Given the description of an element on the screen output the (x, y) to click on. 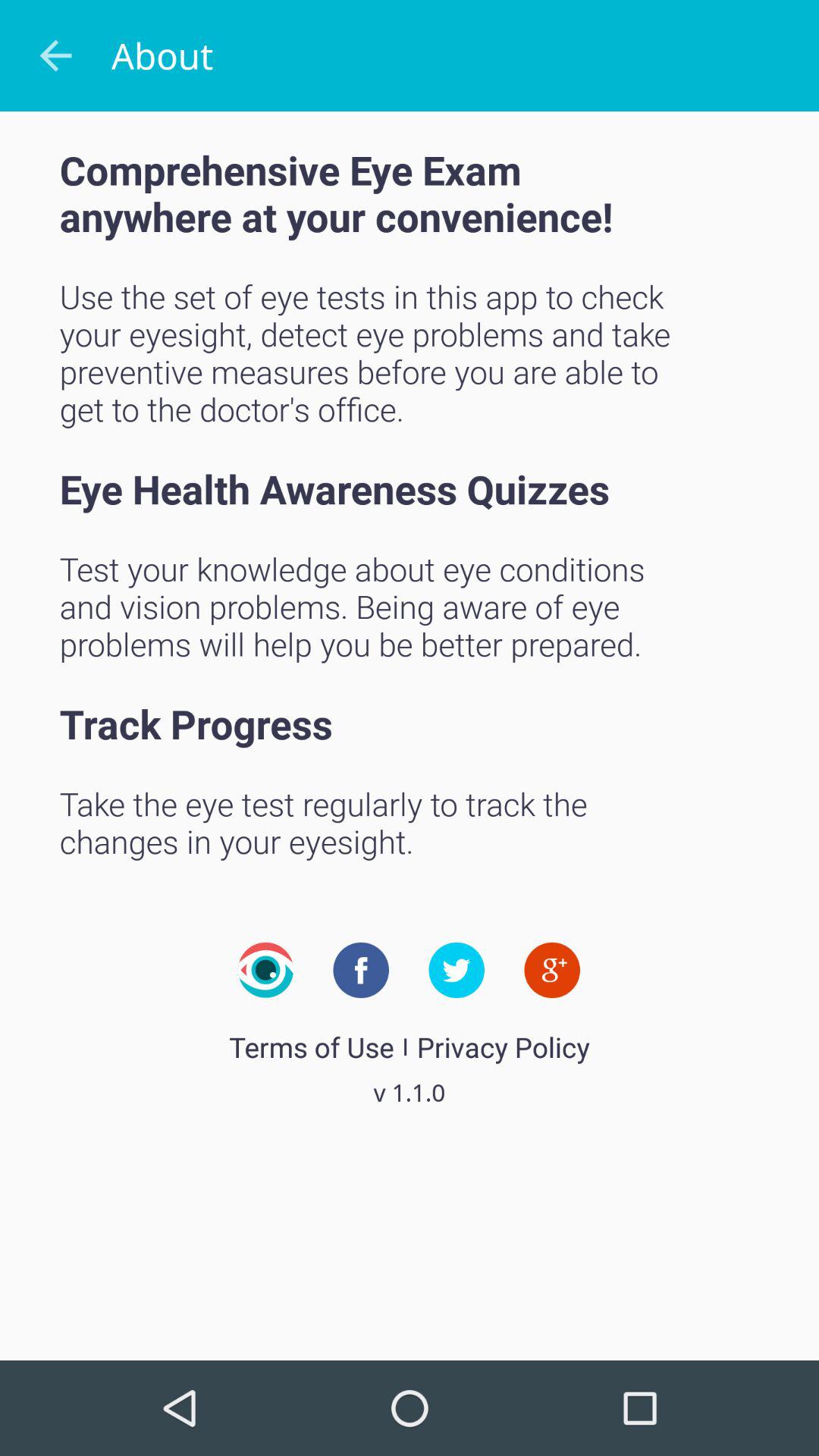
google plus about company (552, 970)
